Given the description of an element on the screen output the (x, y) to click on. 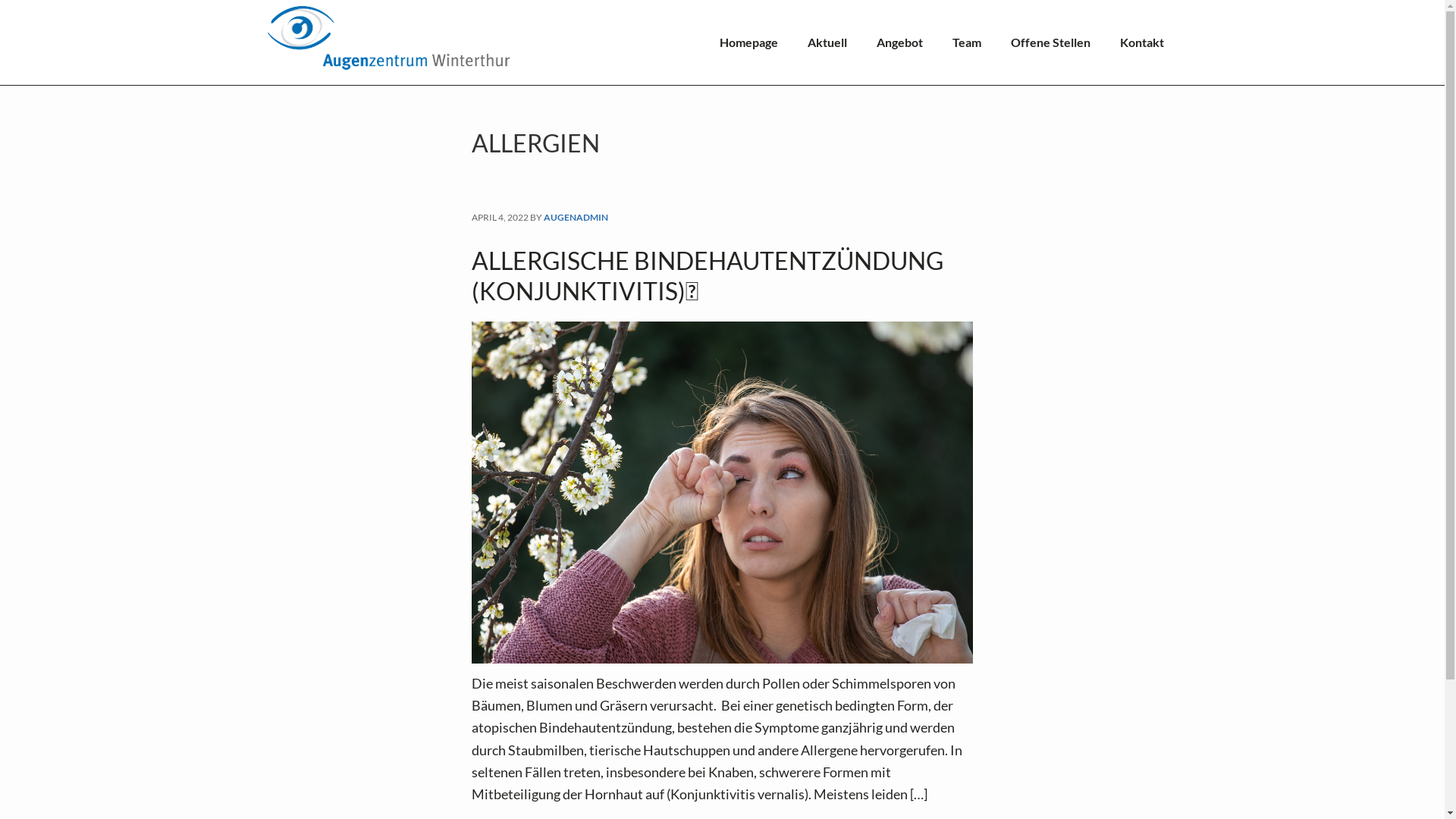
Team Element type: text (966, 42)
Zur Hauptnavigation springen Element type: text (30, 0)
Aktuell Element type: text (826, 42)
Homepage Element type: text (747, 42)
Offene Stellen Element type: text (1049, 42)
Angebot Element type: text (899, 42)
Kontakt Element type: text (1140, 42)
AUGENADMIN Element type: text (575, 218)
